Given the description of an element on the screen output the (x, y) to click on. 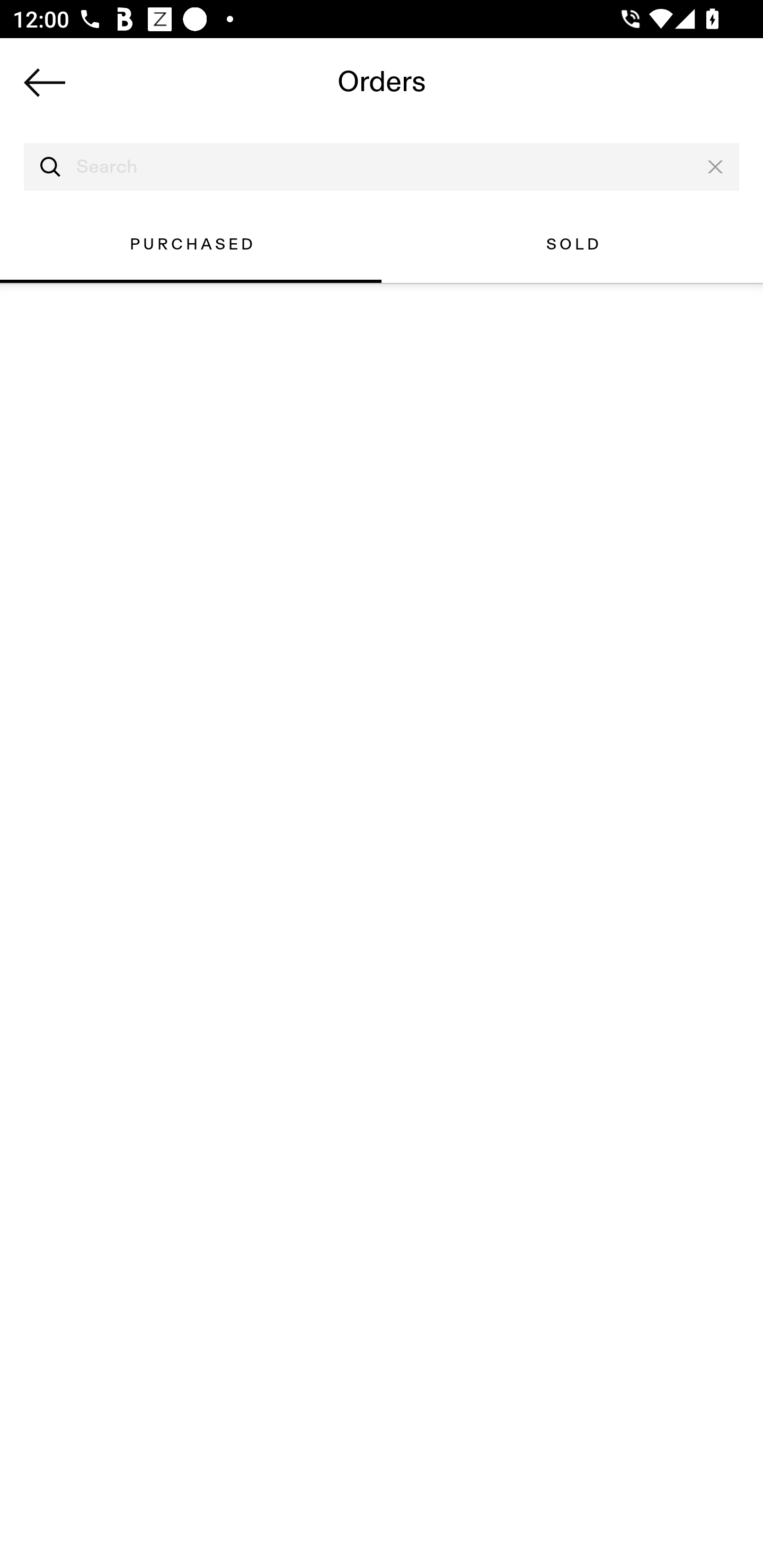
Navigate up (44, 82)
Search (381, 166)
SOLD (572, 244)
